Given the description of an element on the screen output the (x, y) to click on. 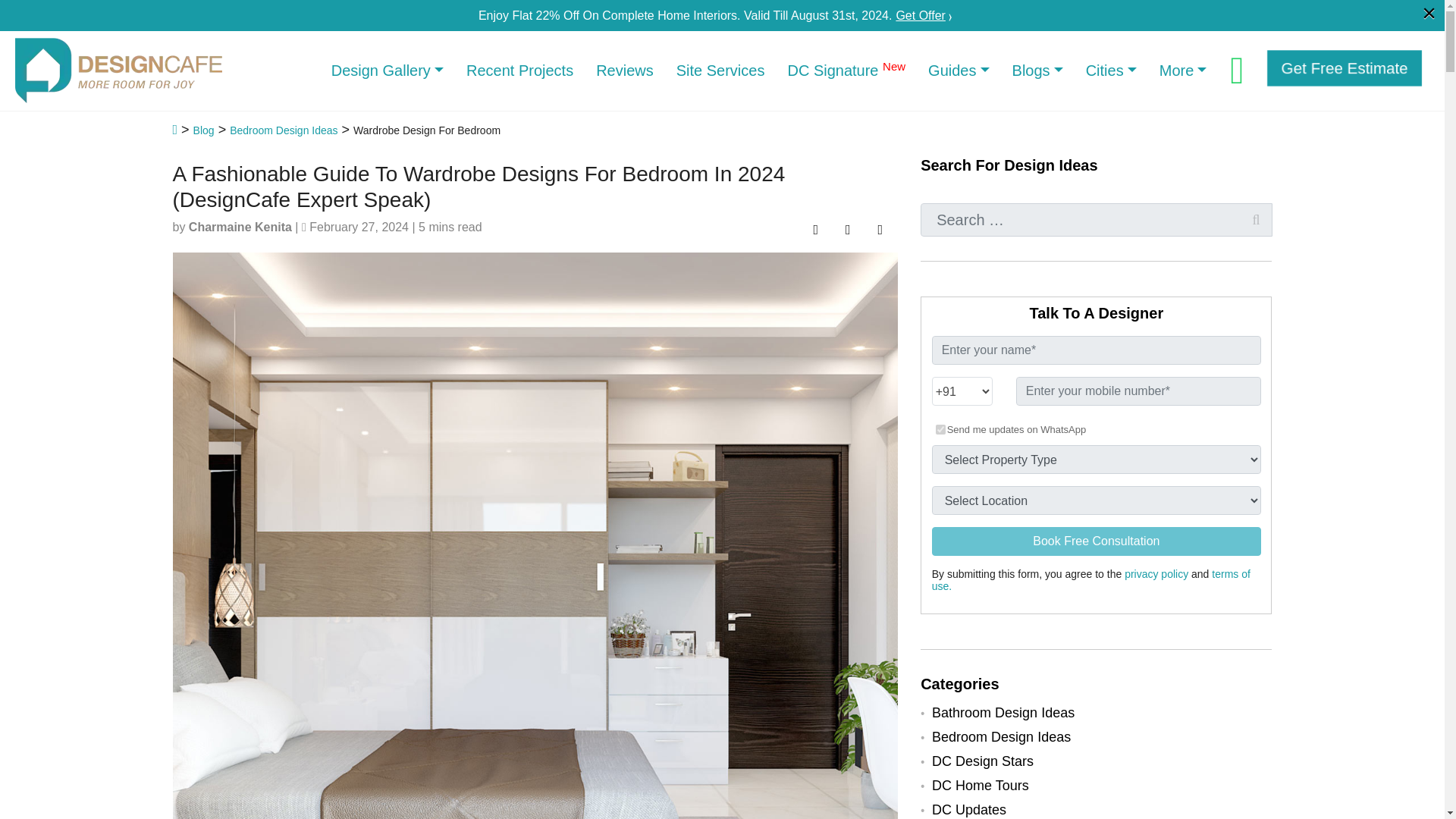
Blogs (1037, 69)
Recent Projects (519, 69)
Site Services (720, 69)
Reviews (625, 69)
on (940, 429)
DC Signature (846, 69)
Guides (958, 69)
DC Signature New (846, 69)
Design Gallery (387, 69)
Recent Projects (519, 69)
